Given the description of an element on the screen output the (x, y) to click on. 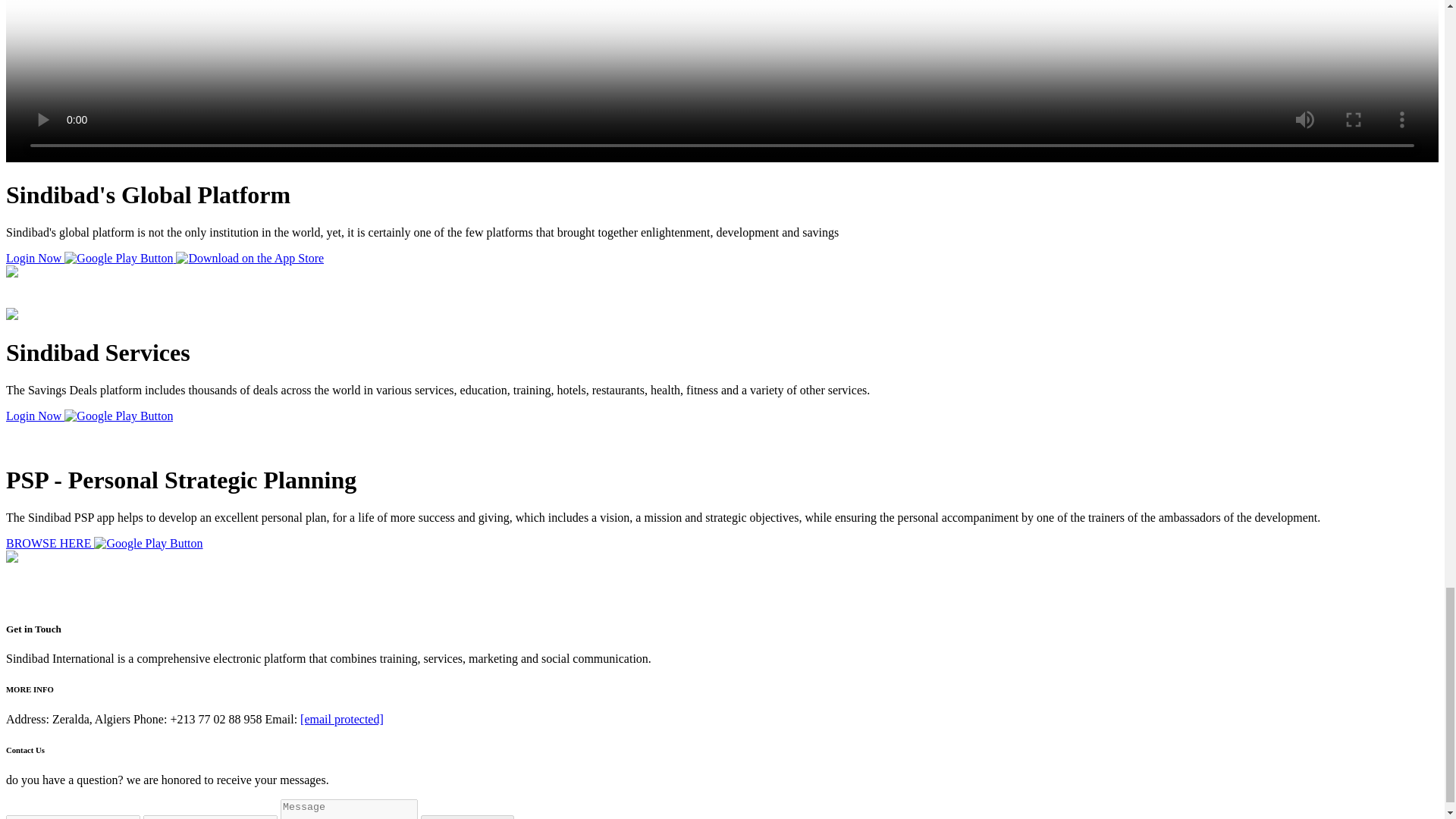
Login Now (34, 415)
Login Now (34, 257)
BROWSE HERE (49, 543)
